Given the description of an element on the screen output the (x, y) to click on. 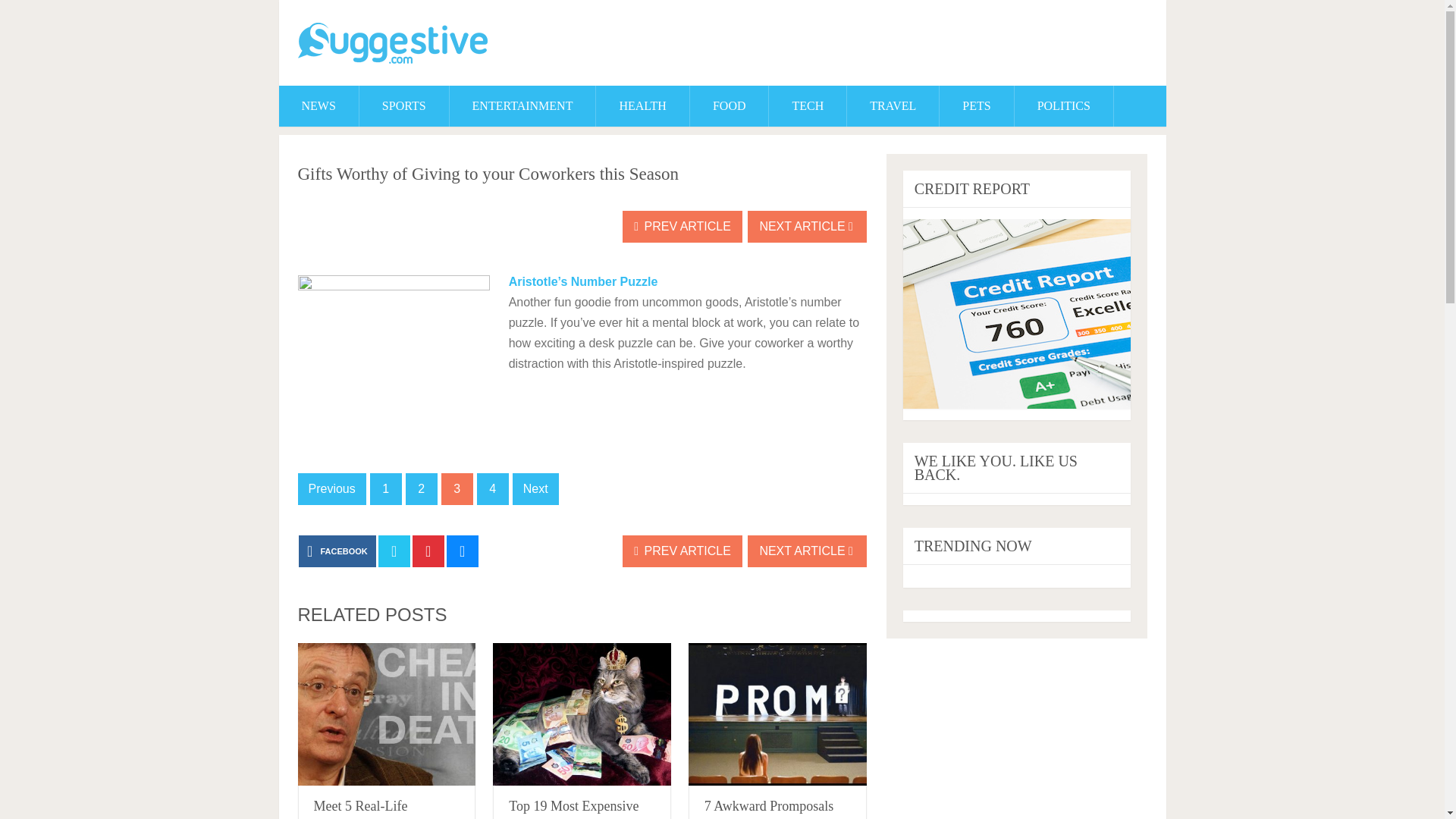
7 Awkward Promposals (768, 806)
Top 19 Most Expensive Cat Breeds (582, 714)
PETS (976, 105)
SPORTS (403, 105)
TECH (806, 105)
NEWS (318, 105)
ENTERTAINMENT (522, 105)
Next (535, 489)
7 Awkward Promposals (768, 806)
FOOD (729, 105)
PREV ARTICLE (682, 551)
7 Awkward Promposals (777, 714)
Meet 5 Real-Life Immortal Humans Who Cheated Death (379, 808)
Meet 5 Real-Life Immortal Humans Who Cheated Death (386, 714)
HEALTH (641, 105)
